Given the description of an element on the screen output the (x, y) to click on. 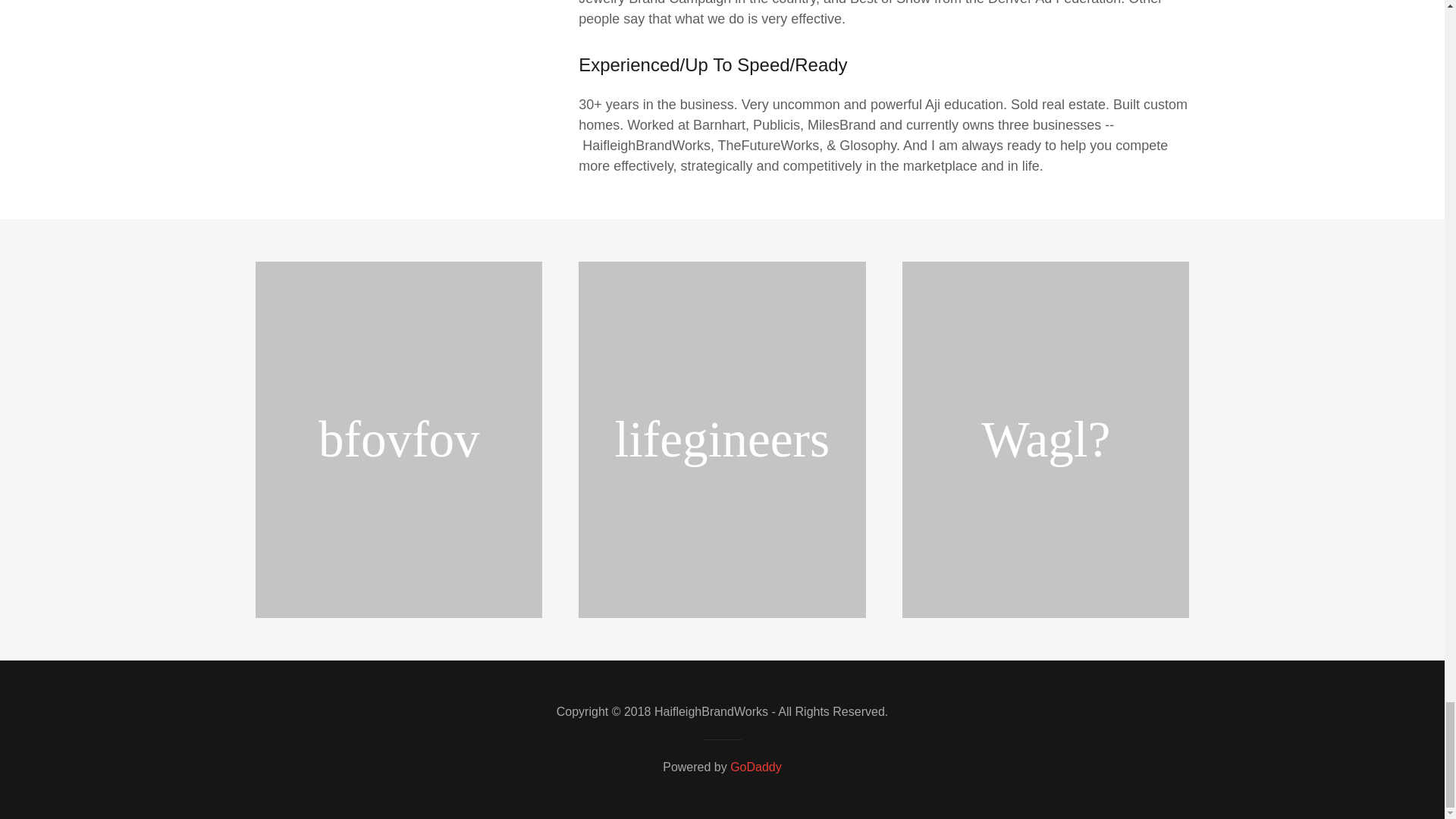
GoDaddy (755, 766)
